Given the description of an element on the screen output the (x, y) to click on. 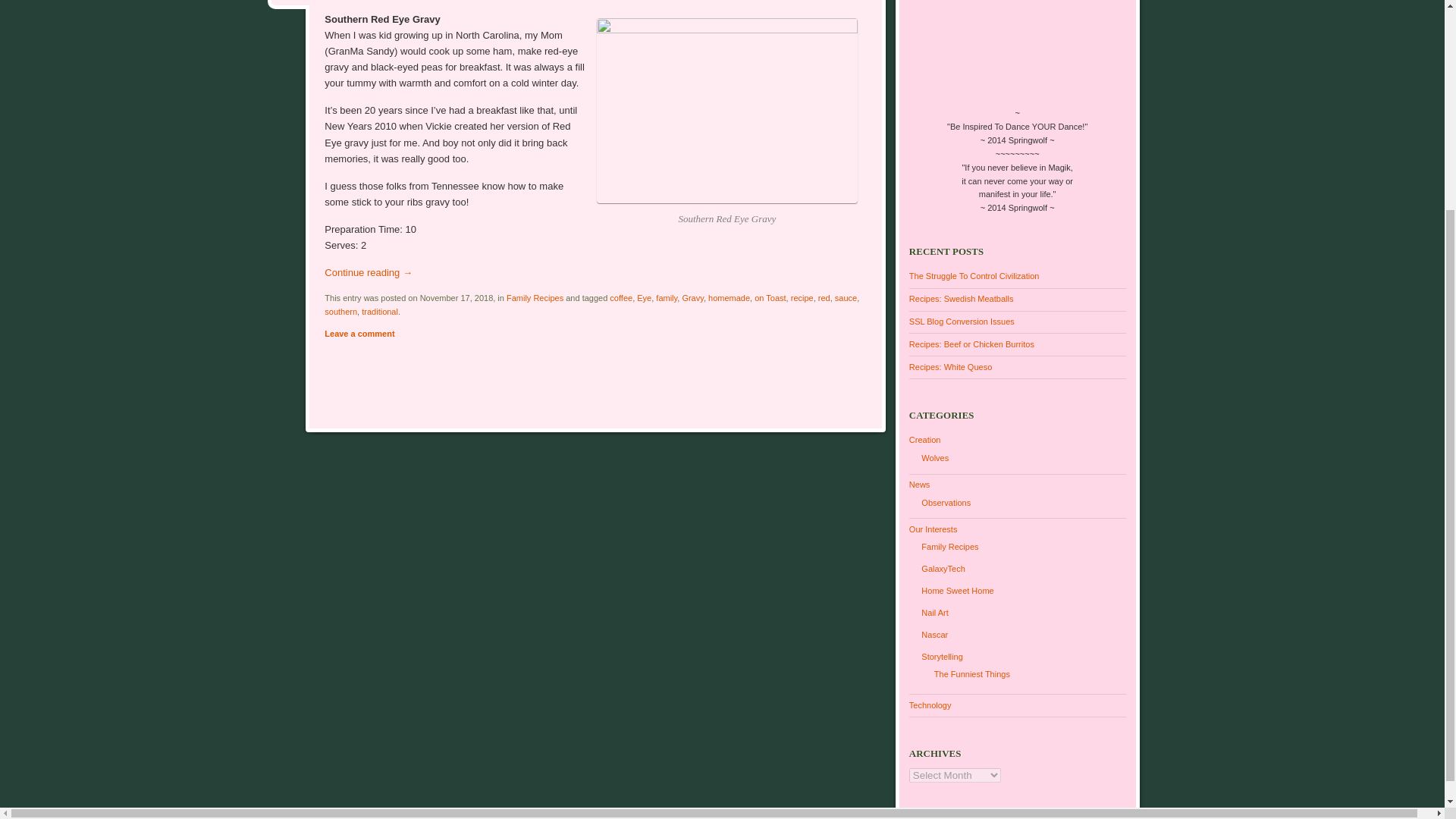
traditional (379, 311)
sauce (845, 297)
Leave a comment (359, 333)
Eye (643, 297)
Recipes: Swedish Meatballs (960, 298)
The Struggle To Control Civilization (973, 275)
homemade (728, 297)
Recipes: Beef or Chicken Burritos (970, 343)
SSL Blog Conversion Issues (961, 320)
recipe (801, 297)
